Given the description of an element on the screen output the (x, y) to click on. 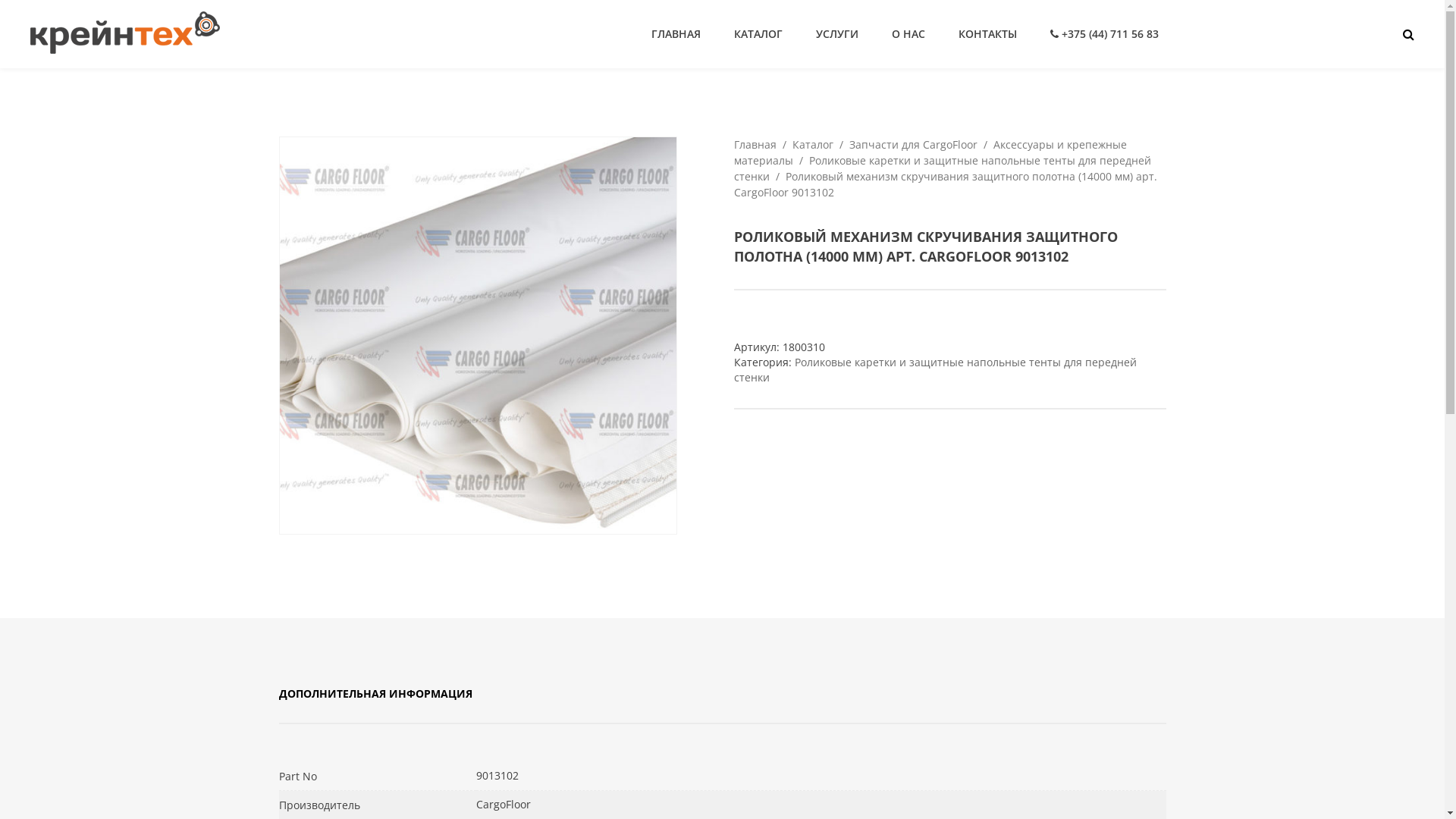
 +375 (44) 711 56 83 Element type: text (1103, 34)
